Given the description of an element on the screen output the (x, y) to click on. 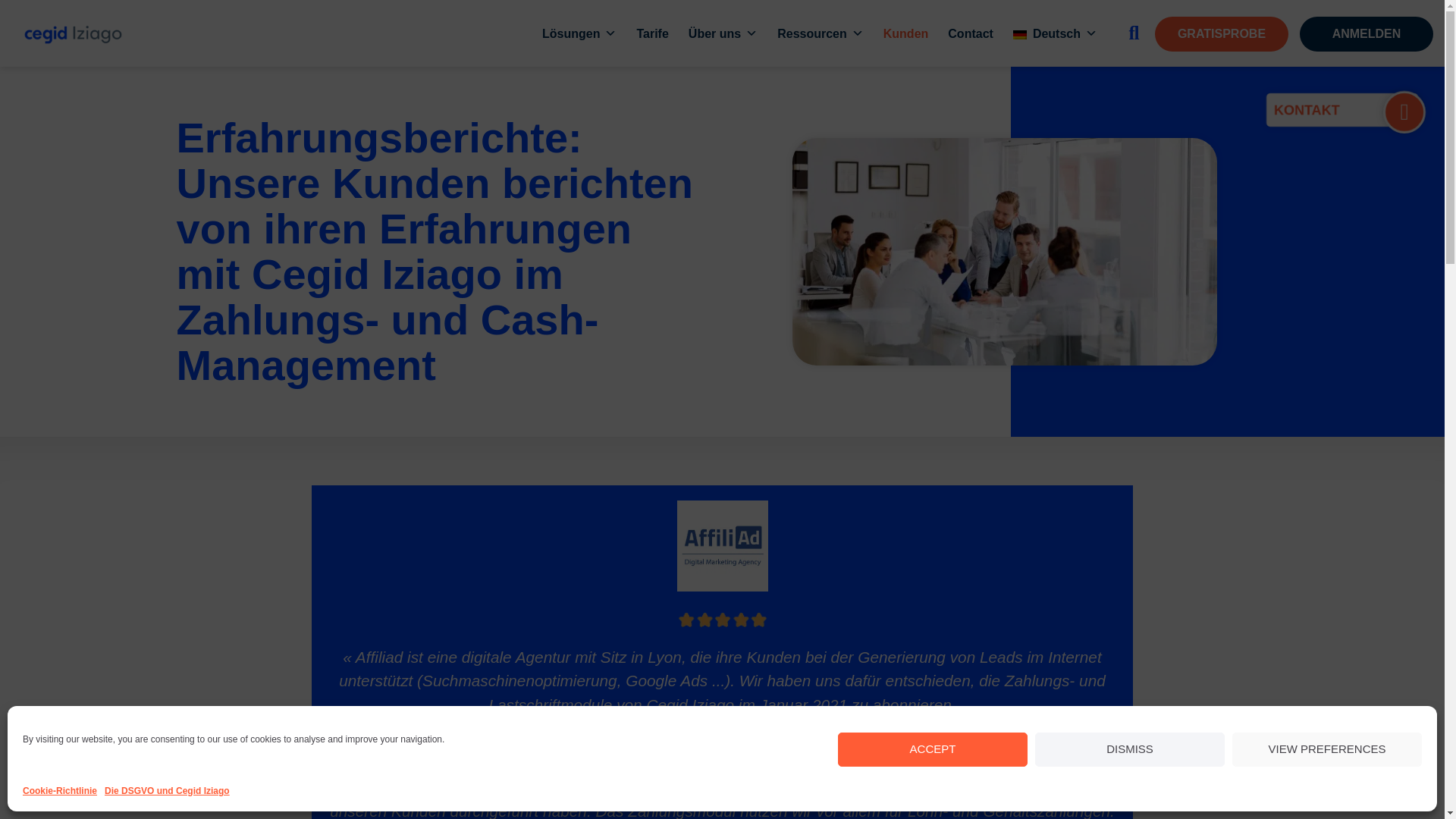
Deutsch (1054, 33)
Tarife (652, 33)
Ressourcen (820, 33)
